Given the description of an element on the screen output the (x, y) to click on. 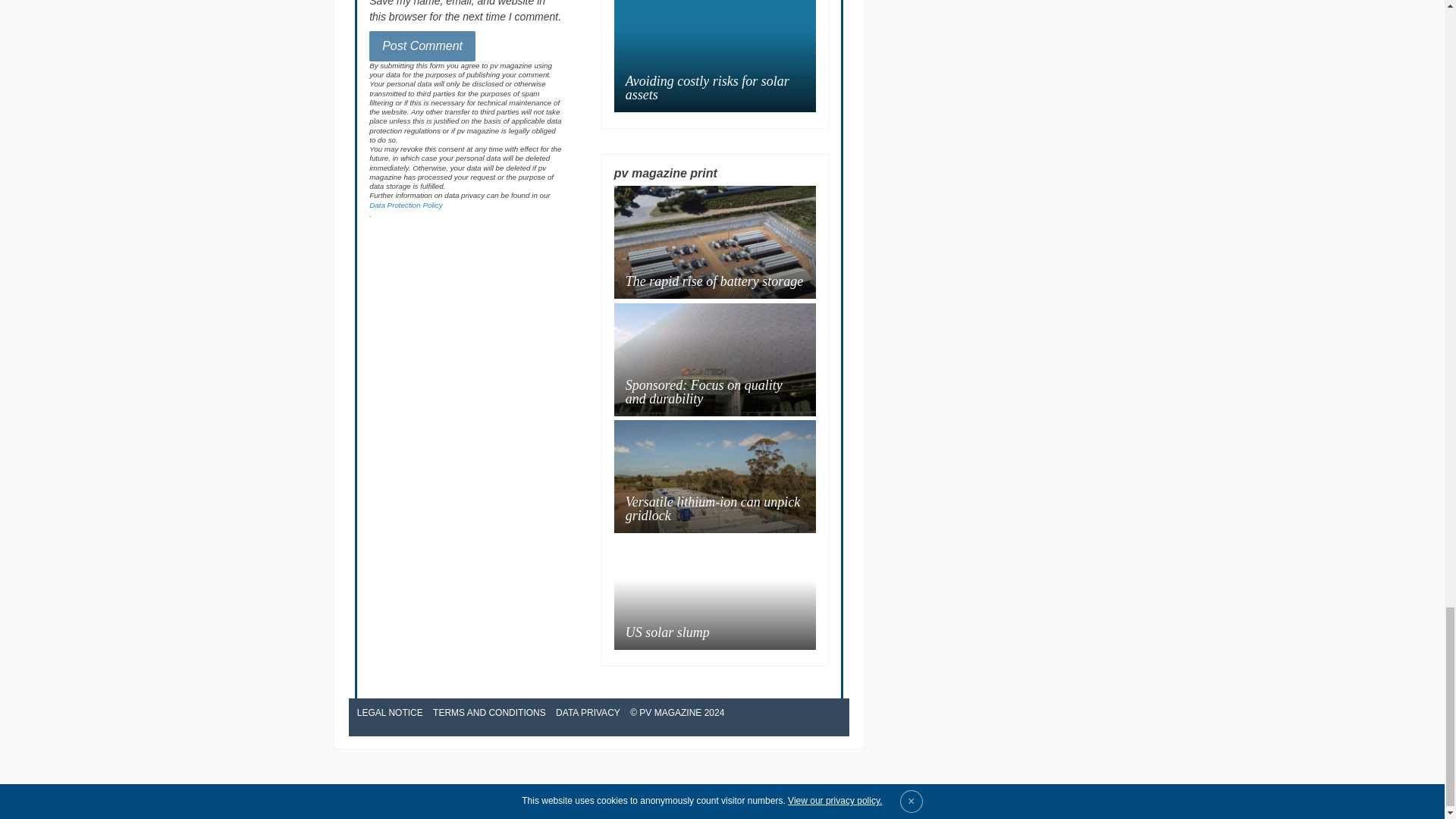
Post Comment (422, 46)
